Given the description of an element on the screen output the (x, y) to click on. 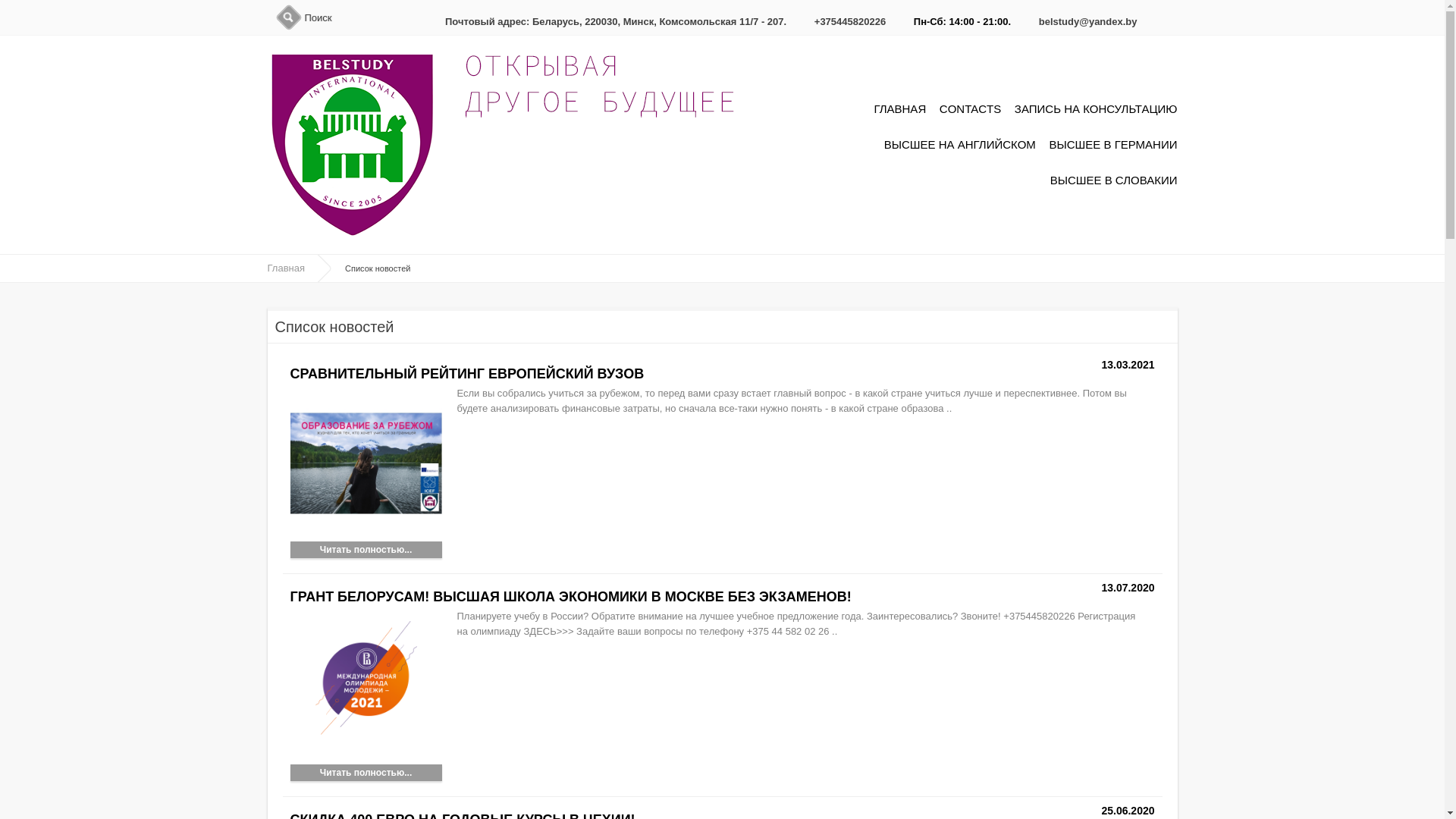
Email Element type: hover (1027, 16)
CONTACTS Element type: text (970, 106)
+375445820226 Element type: text (849, 21)
Work Time Element type: hover (902, 16)
Mobile Element type: hover (803, 16)
belstudy@yandex.by Element type: text (1087, 21)
Phone Element type: hover (434, 16)
